Given the description of an element on the screen output the (x, y) to click on. 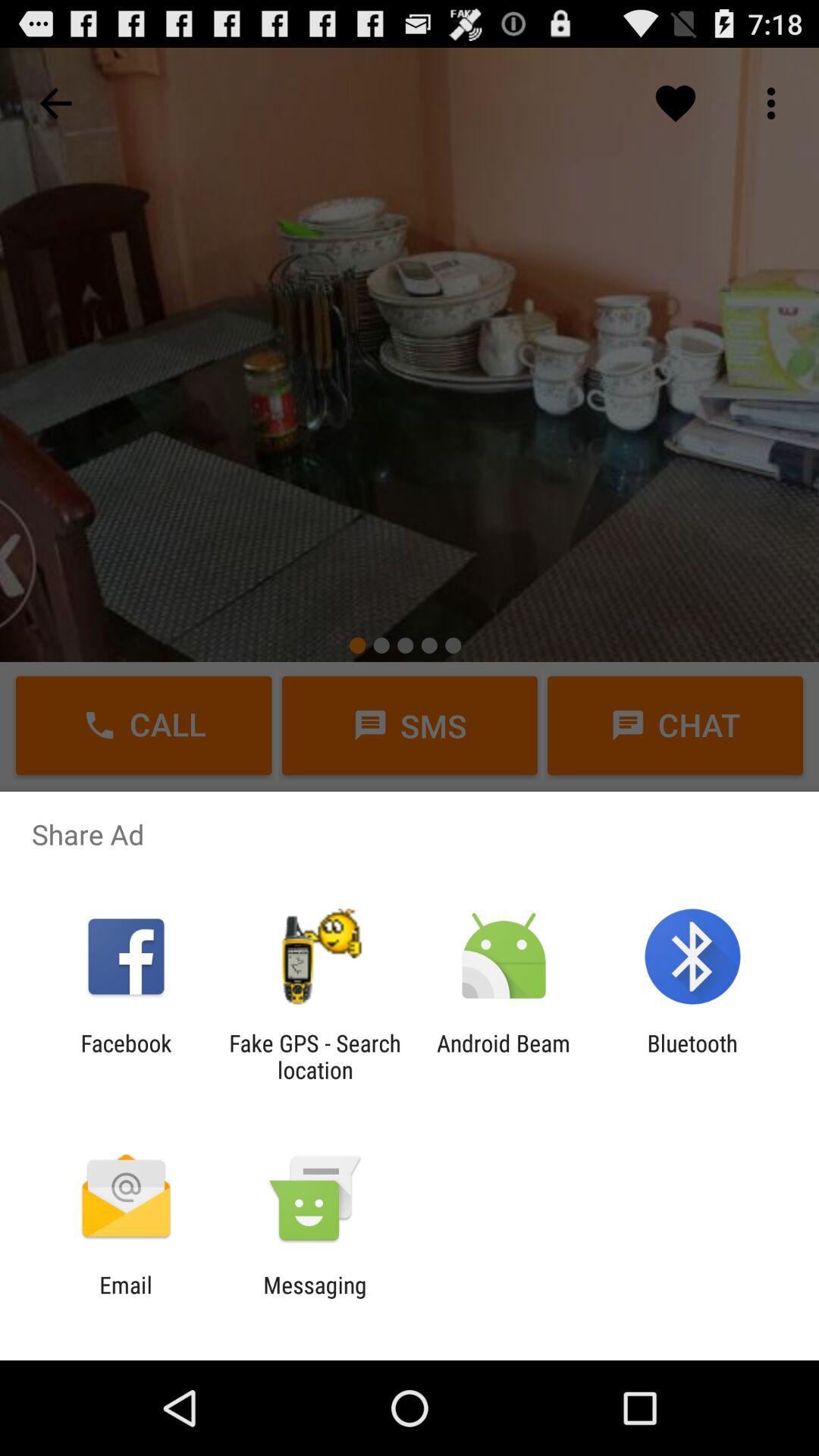
flip until the bluetooth (692, 1056)
